Given the description of an element on the screen output the (x, y) to click on. 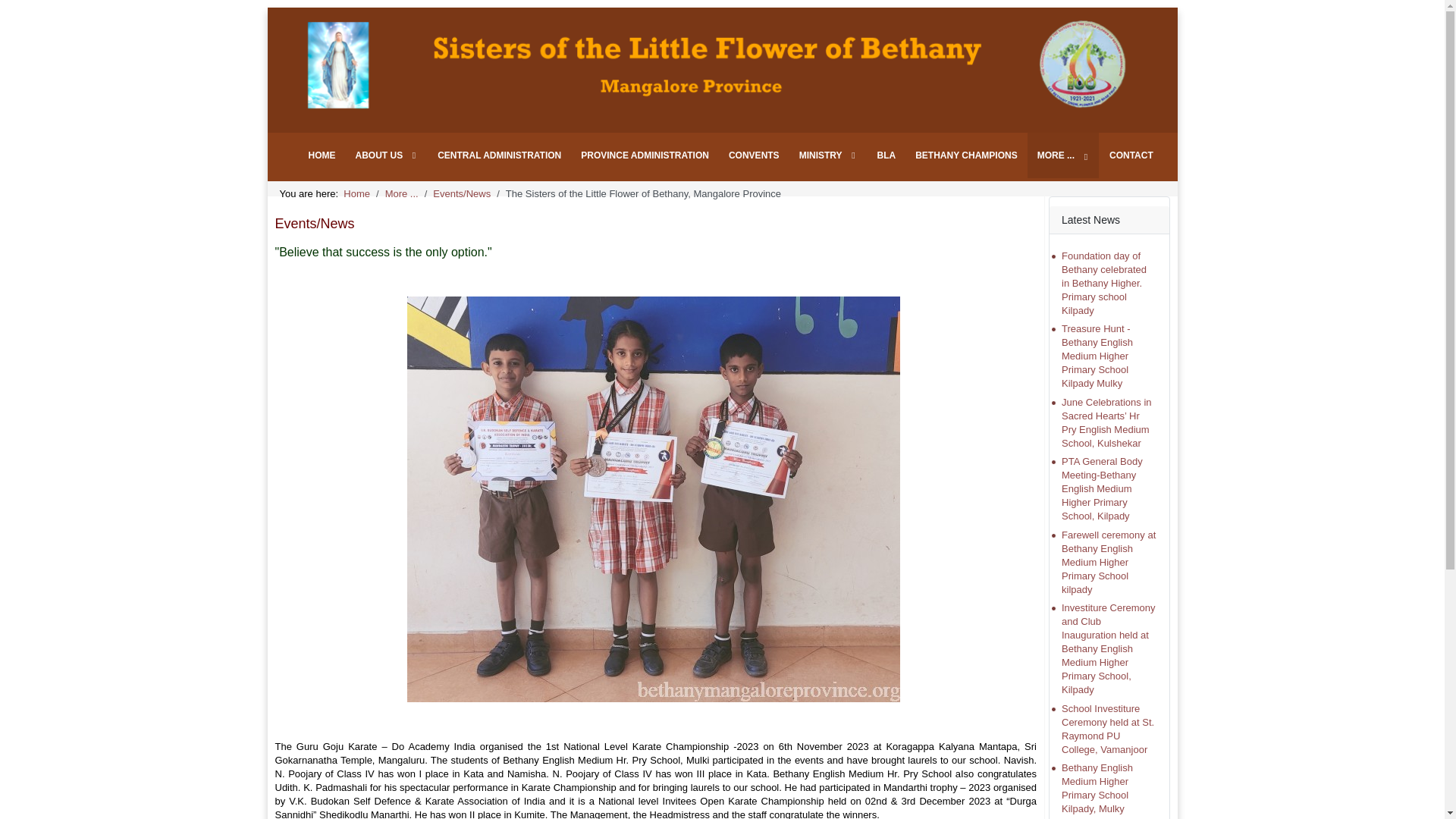
PROVINCE ADMINISTRATION (644, 155)
HOME (321, 155)
CONVENTS (754, 155)
ABOUT US (387, 155)
MINISTRY (828, 155)
CENTRAL ADMINISTRATION (499, 155)
